Given the description of an element on the screen output the (x, y) to click on. 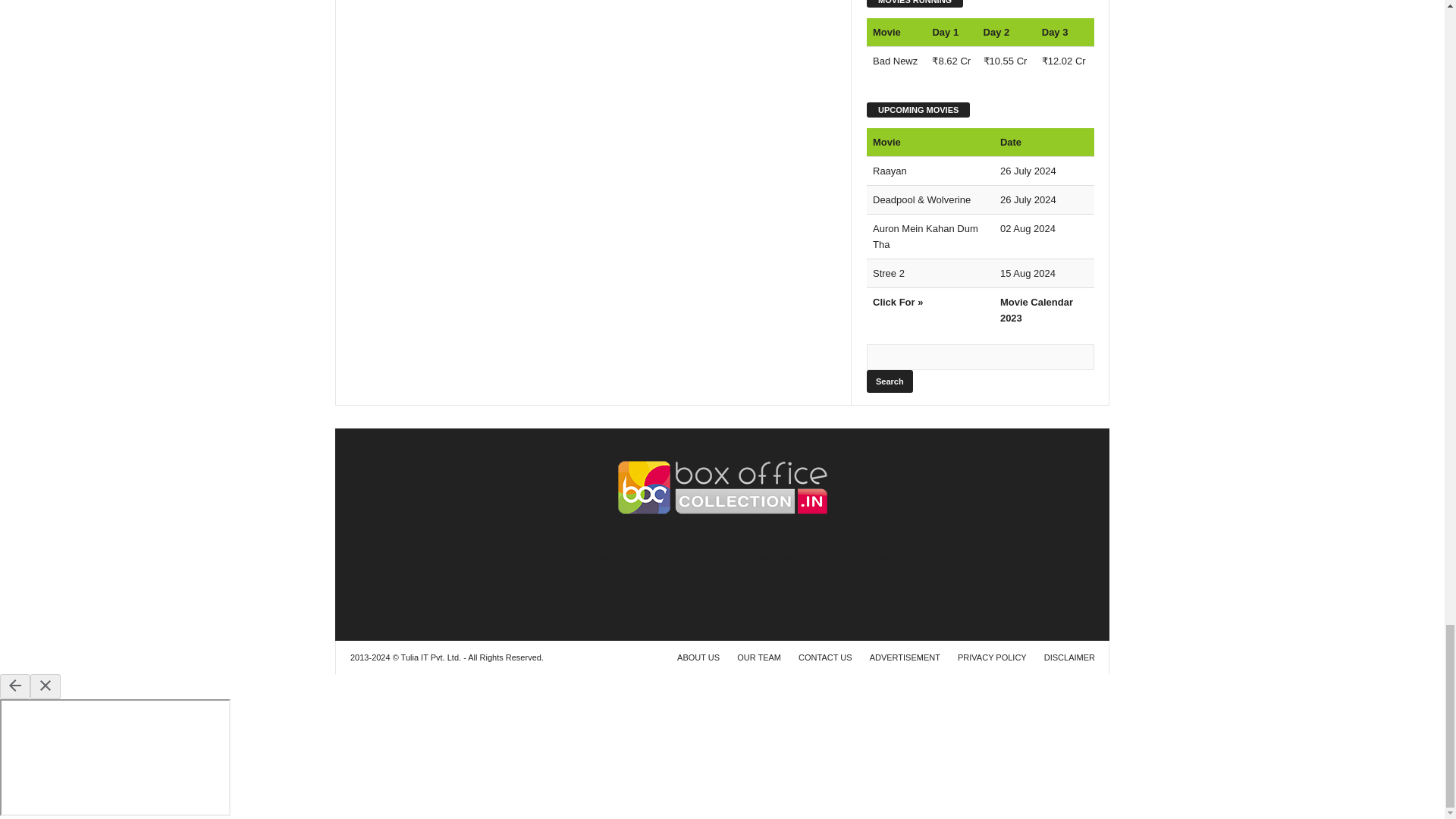
Search (889, 381)
